Given the description of an element on the screen output the (x, y) to click on. 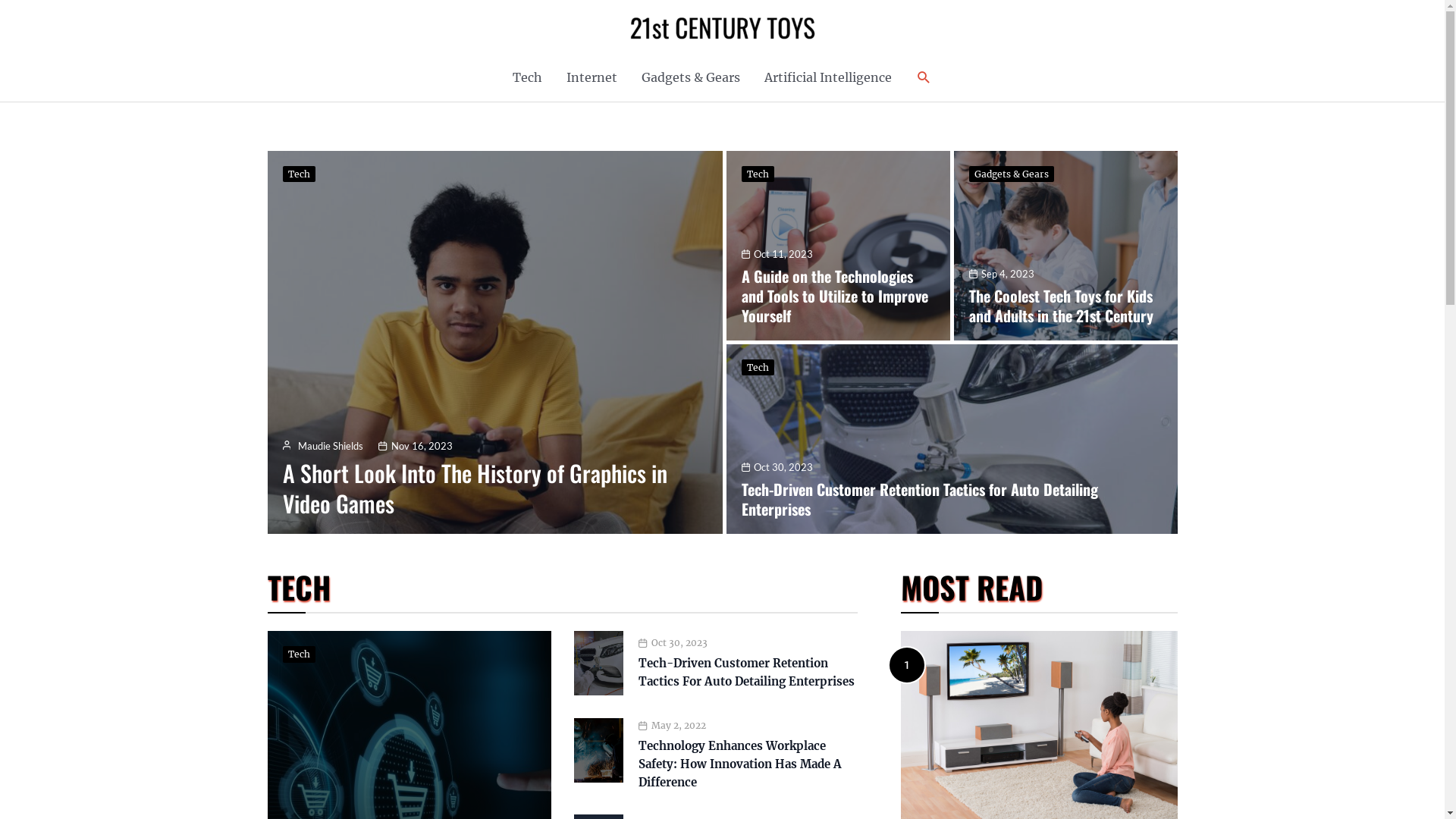
Artificial Intelligence Element type: text (827, 77)
Gadgets & Gears Element type: text (690, 77)
Maudie Shields Element type: text (330, 445)
Tech Element type: text (527, 77)
Tech Element type: text (298, 174)
Gadgets & Gears Element type: text (1011, 174)
Tech Element type: text (757, 174)
Tech Element type: text (757, 367)
Tech Element type: text (298, 654)
Internet Element type: text (591, 77)
A Short Look Into The History of Graphics in Video Games Element type: text (474, 487)
Search Element type: text (923, 77)
